Given the description of an element on the screen output the (x, y) to click on. 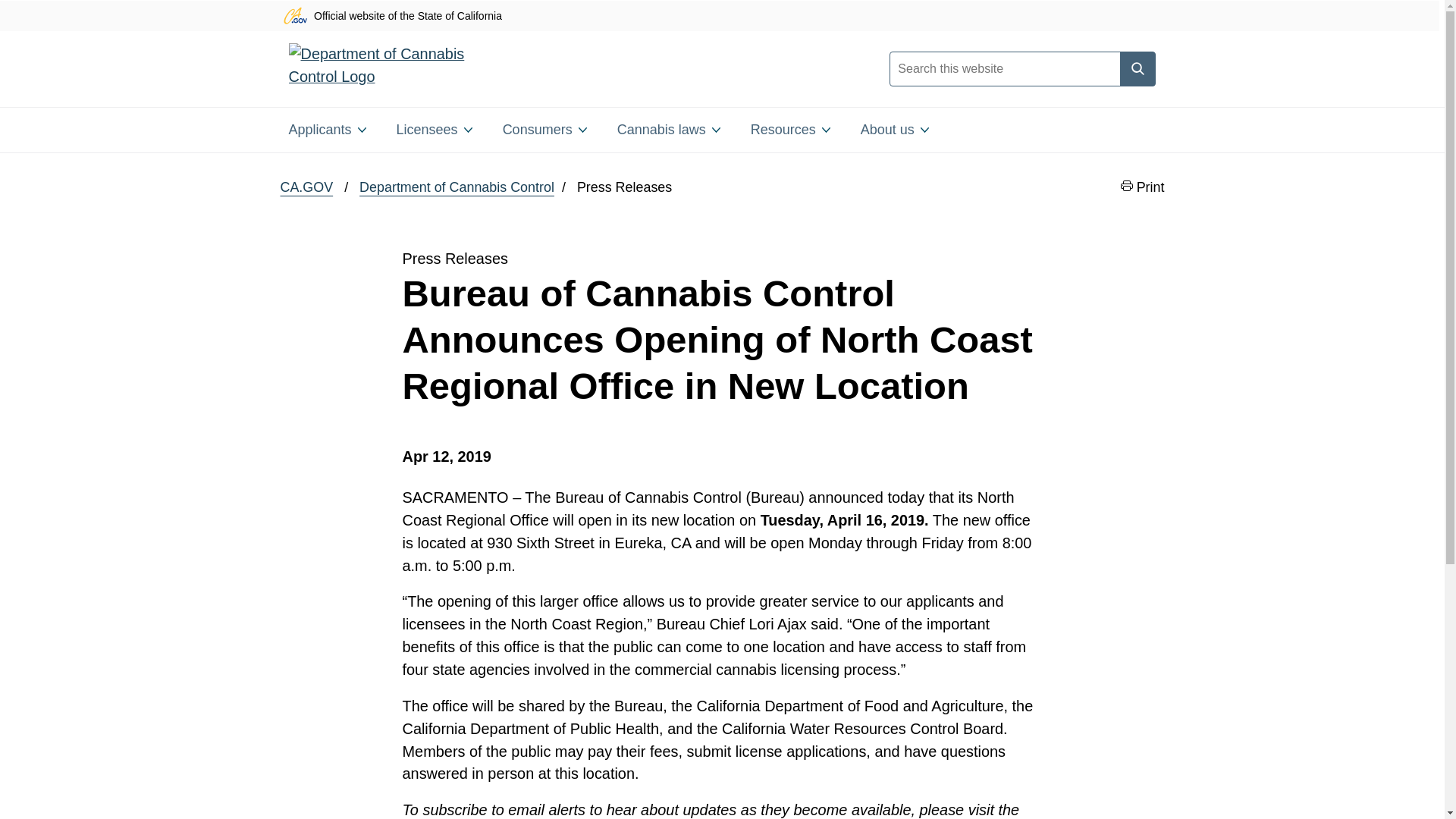
Submit (1136, 68)
Consumers (544, 129)
Department of Cannabis Control (456, 187)
CA.GOV (307, 187)
Resources (790, 129)
Applicants (326, 129)
Licensees (434, 129)
ca.gov logo (294, 15)
Cannabis laws (668, 129)
